Given the description of an element on the screen output the (x, y) to click on. 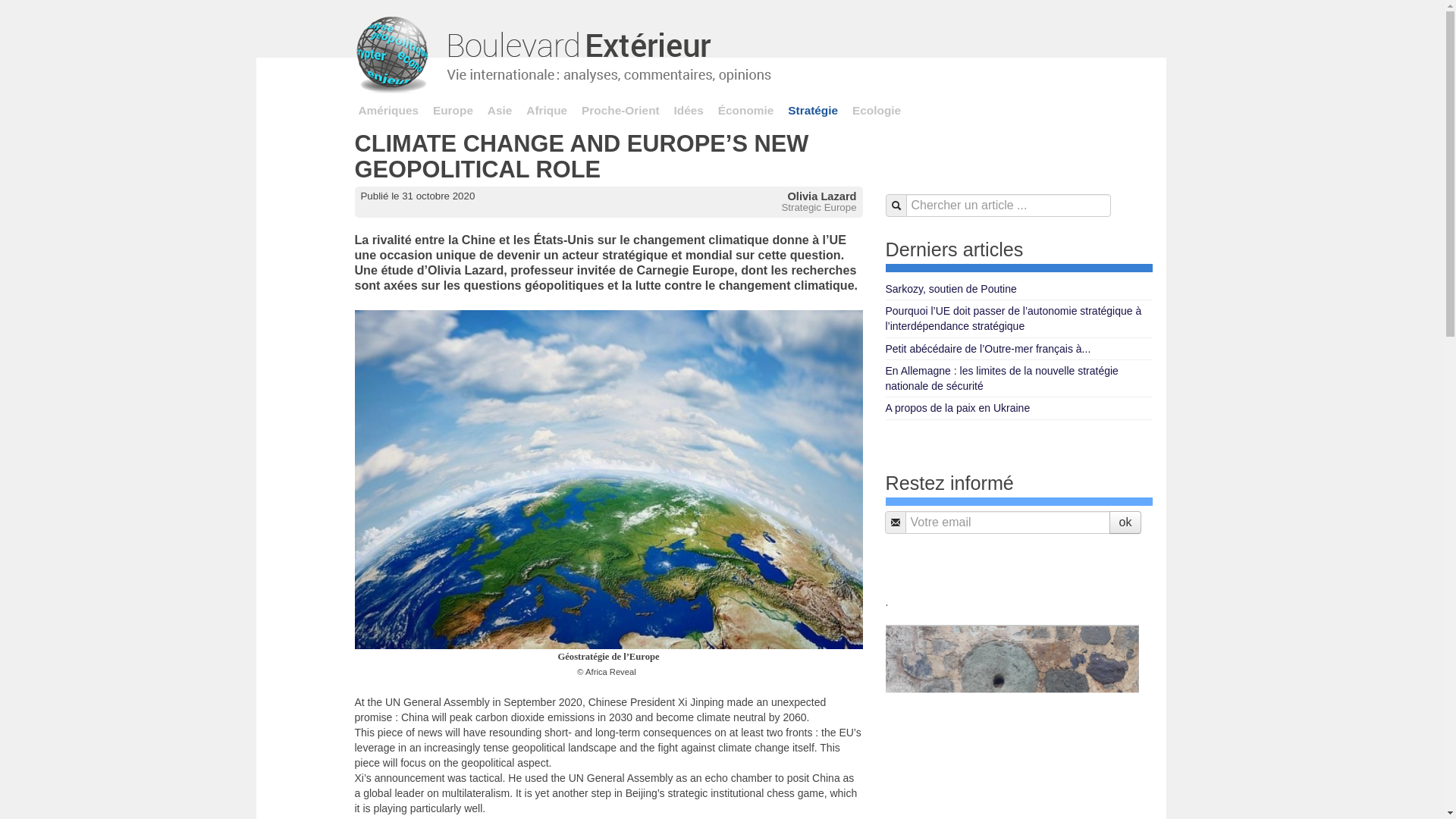
Sarkozy, soutien de Poutine (1019, 289)
Asie (499, 110)
Afrique (546, 110)
Olivia Lazard (821, 196)
Proche-Orient (620, 110)
Europe (453, 110)
ok (1124, 522)
ok (1124, 522)
Ecologie (876, 110)
A propos de la paix en Ukraine (1019, 408)
